Given the description of an element on the screen output the (x, y) to click on. 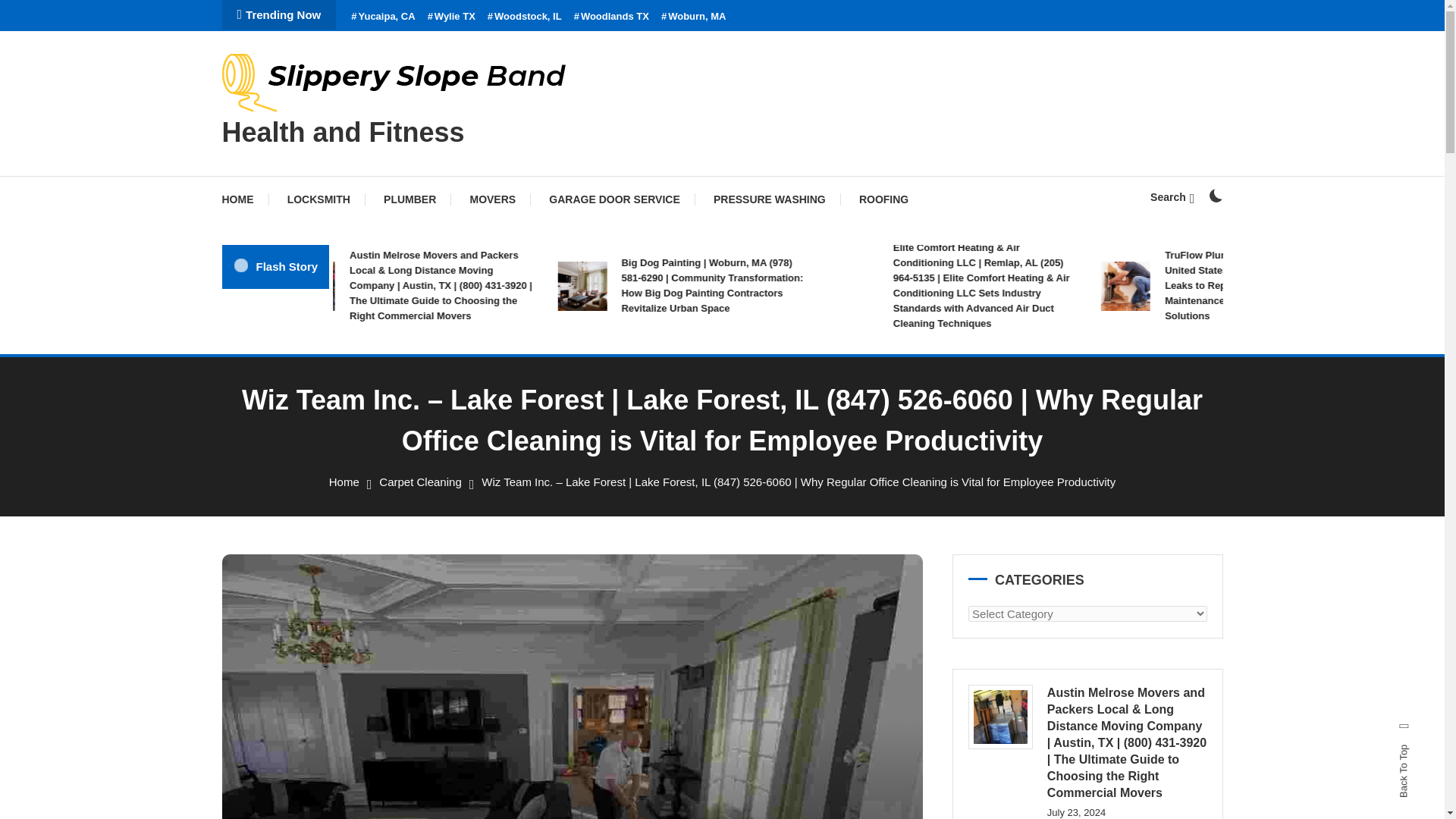
MOVERS (492, 198)
LOCKSMITH (318, 198)
on (1215, 195)
Health and Fitness (342, 132)
PRESSURE WASHING (769, 198)
Woodstock, IL (524, 16)
Carpet Cleaning (419, 481)
Home (344, 481)
Wylie TX (452, 16)
Search (768, 434)
HOME (244, 198)
ROOFING (883, 198)
GARAGE DOOR SERVICE (614, 198)
PLUMBER (409, 198)
Search (1171, 196)
